Given the description of an element on the screen output the (x, y) to click on. 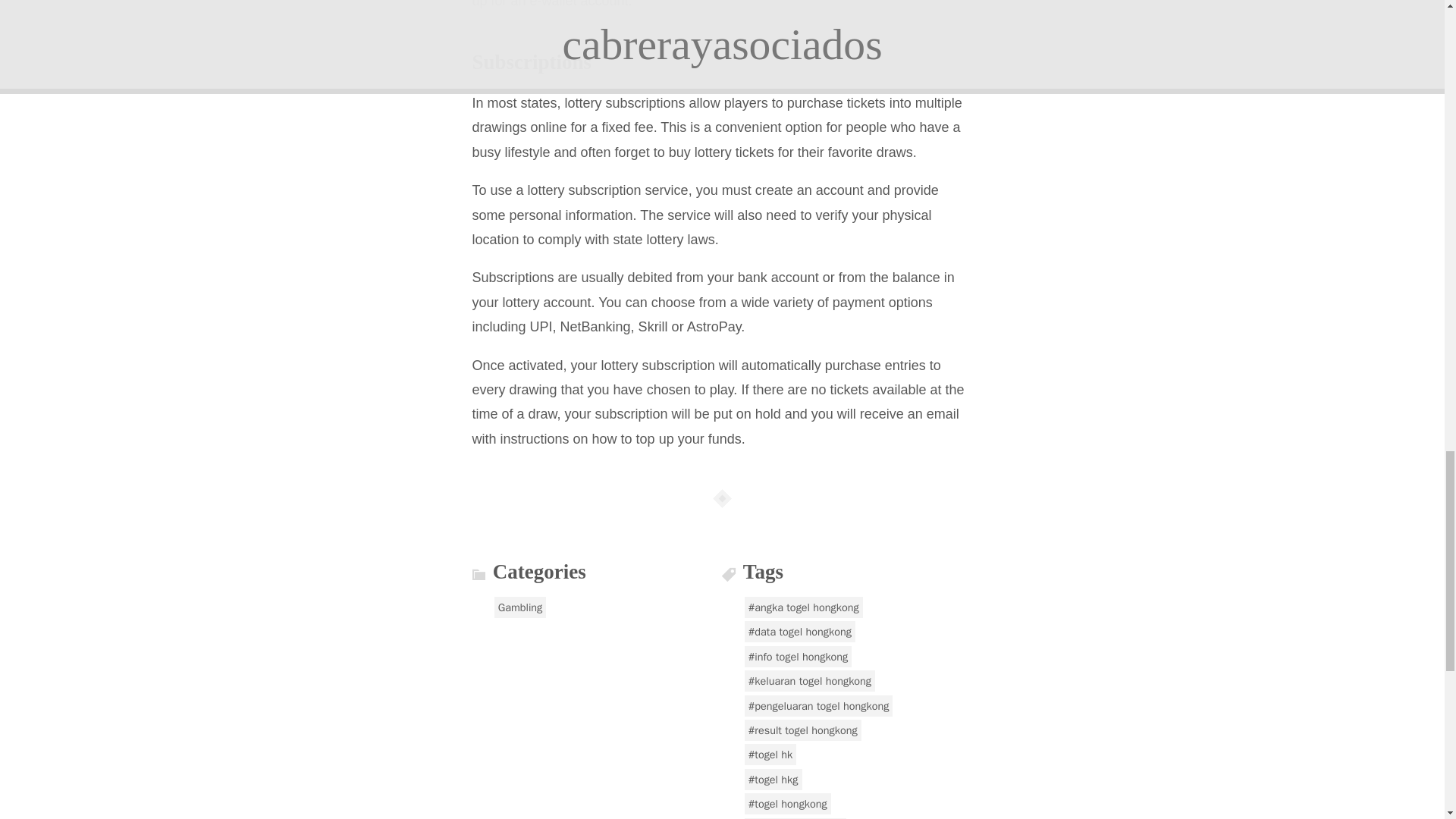
pengeluaran togel hongkong (818, 705)
togel hk (770, 753)
togel hkg (773, 779)
togel hongkong (787, 803)
angka togel hongkong (803, 607)
data togel hongkong (800, 631)
info togel hongkong (797, 656)
Gambling (521, 607)
keluaran togel hongkong (809, 680)
result togel hongkong (802, 730)
